Given the description of an element on the screen output the (x, y) to click on. 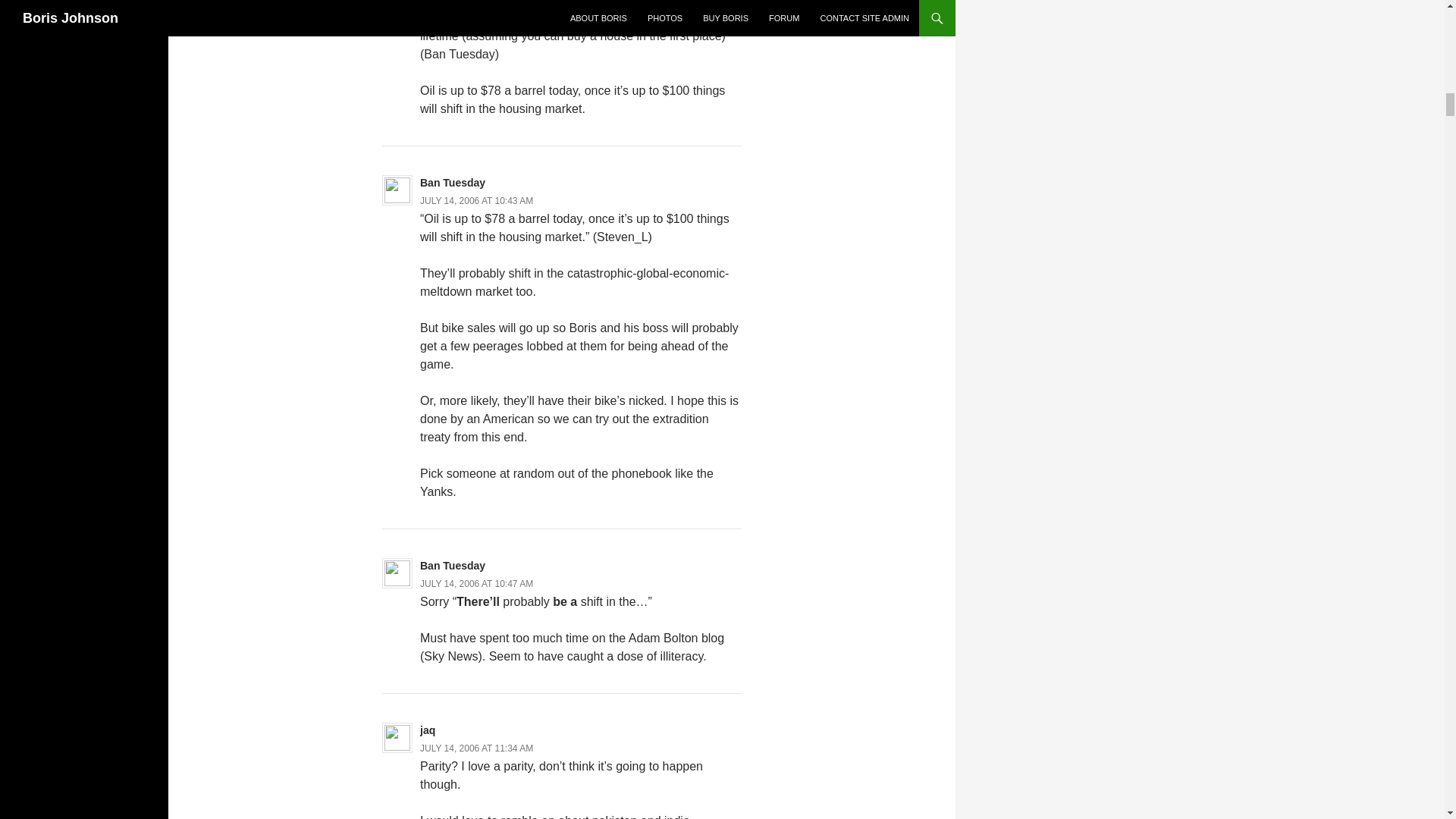
JULY 14, 2006 AT 10:43 AM (476, 200)
JULY 14, 2006 AT 11:34 AM (476, 747)
JULY 14, 2006 AT 9:32 AM (474, 2)
JULY 14, 2006 AT 10:47 AM (476, 583)
